Given the description of an element on the screen output the (x, y) to click on. 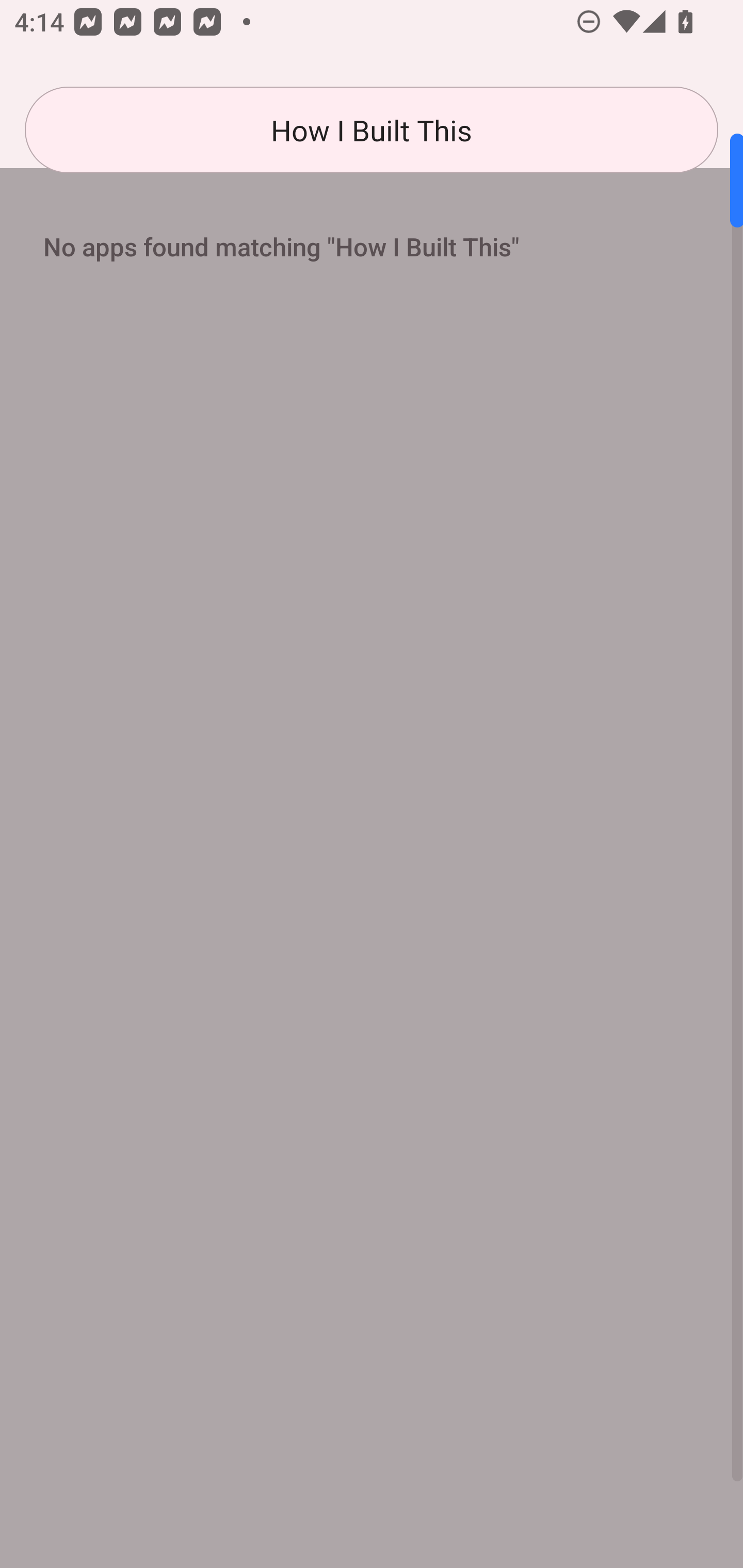
How I Built This (371, 130)
